Given the description of an element on the screen output the (x, y) to click on. 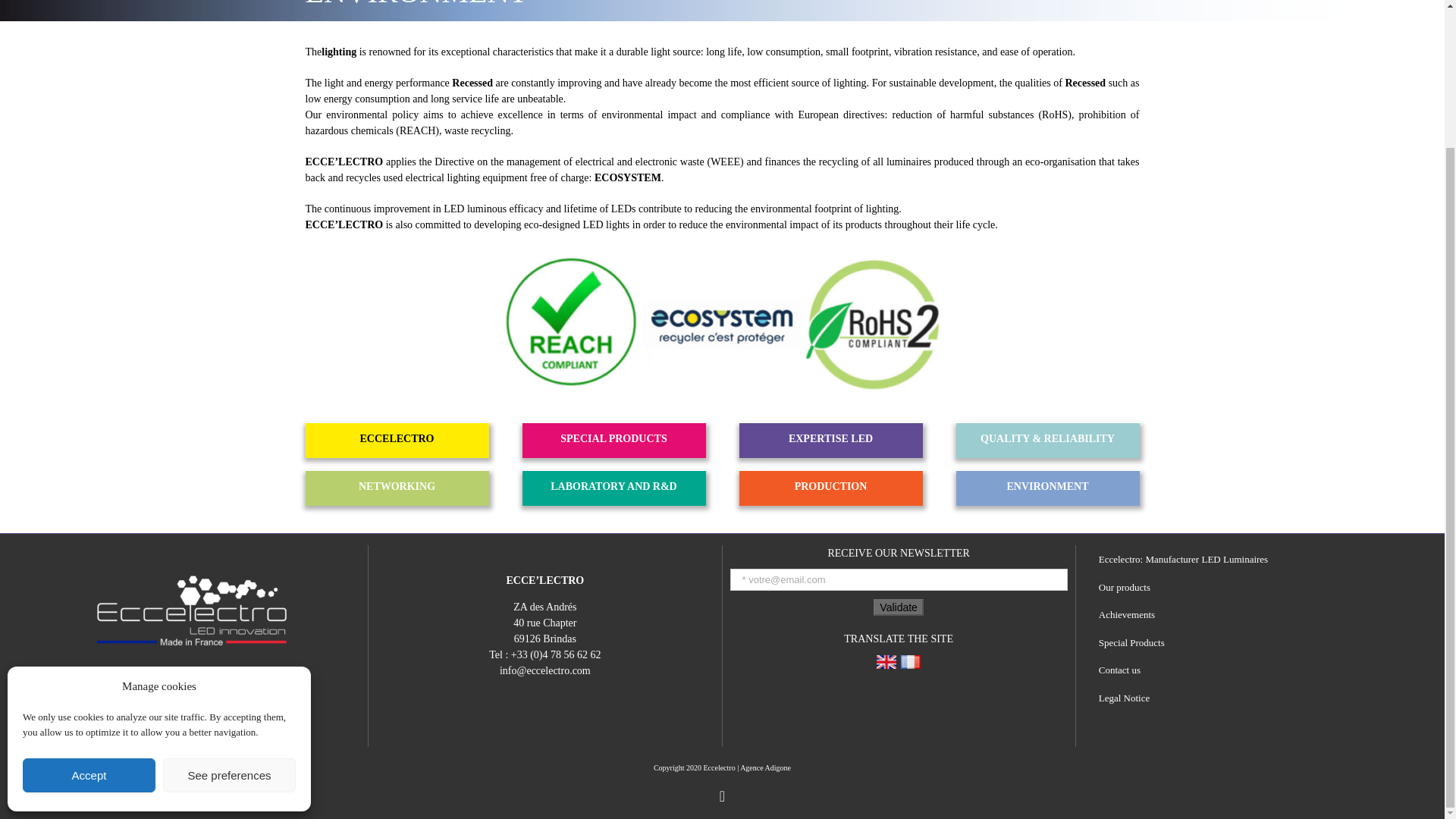
See preferences (229, 605)
English (886, 661)
NETWORKING (395, 486)
ENVIRONMENT (1046, 486)
Accept (89, 605)
LABORATORY (612, 486)
Validate (898, 606)
 SPECIAL PRODUCTS (612, 438)
PRODUCTION (829, 486)
expertise LED (829, 438)
LED Light EcodesignEnvironmental Sustainability (722, 323)
ECCELECTRO (395, 438)
